Given the description of an element on the screen output the (x, y) to click on. 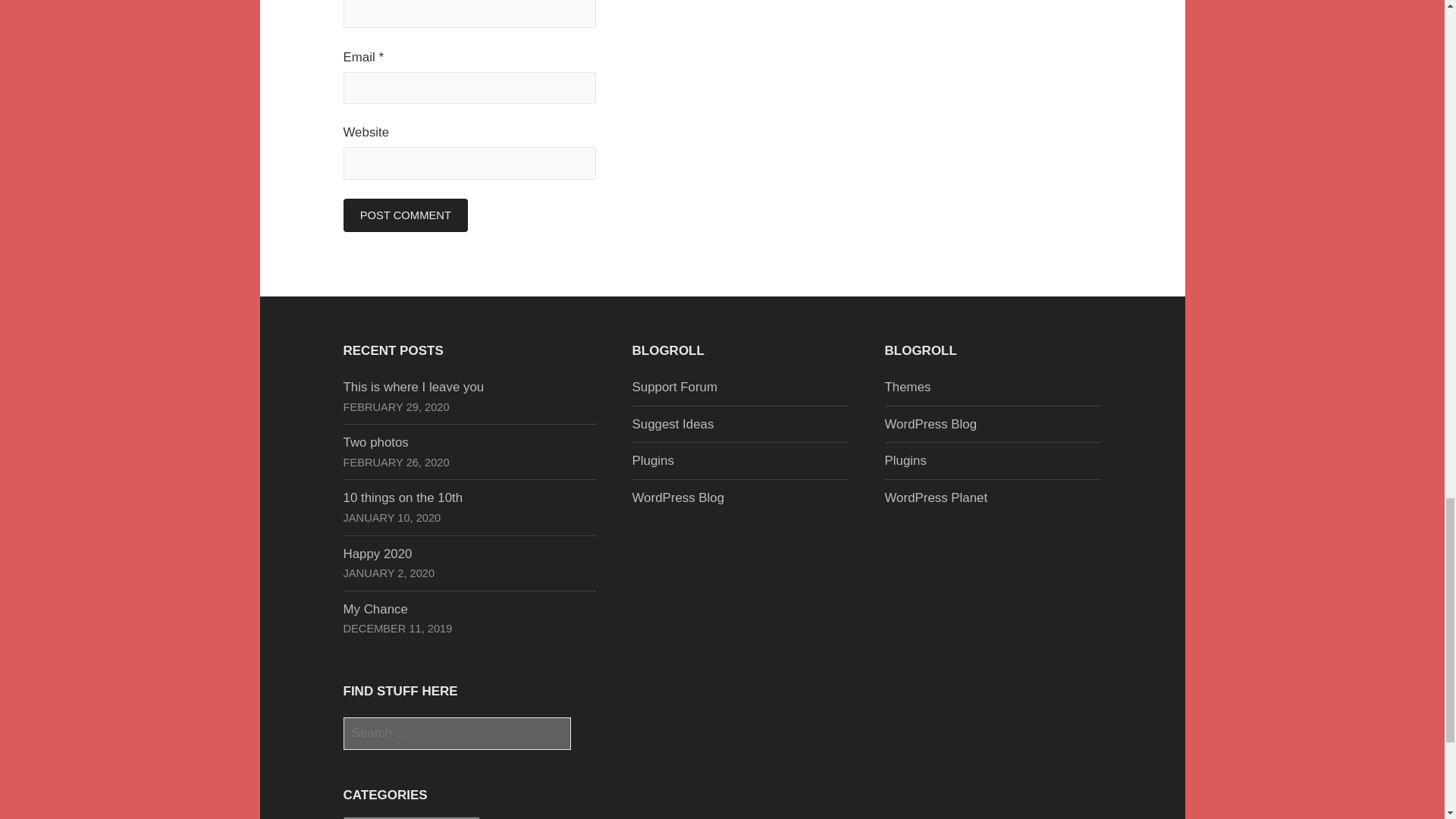
Post Comment (404, 215)
Suggest Ideas (672, 423)
Plugins (652, 460)
Support Forum (674, 386)
Two photos (374, 441)
This is where I leave you (412, 386)
WordPress Planet (935, 497)
Themes (906, 386)
10 things on the 10th (402, 497)
WordPress Blog (929, 423)
Plugins (904, 460)
Happy 2020 (377, 554)
Post Comment (404, 215)
WordPress Blog (678, 497)
My Chance (374, 608)
